Given the description of an element on the screen output the (x, y) to click on. 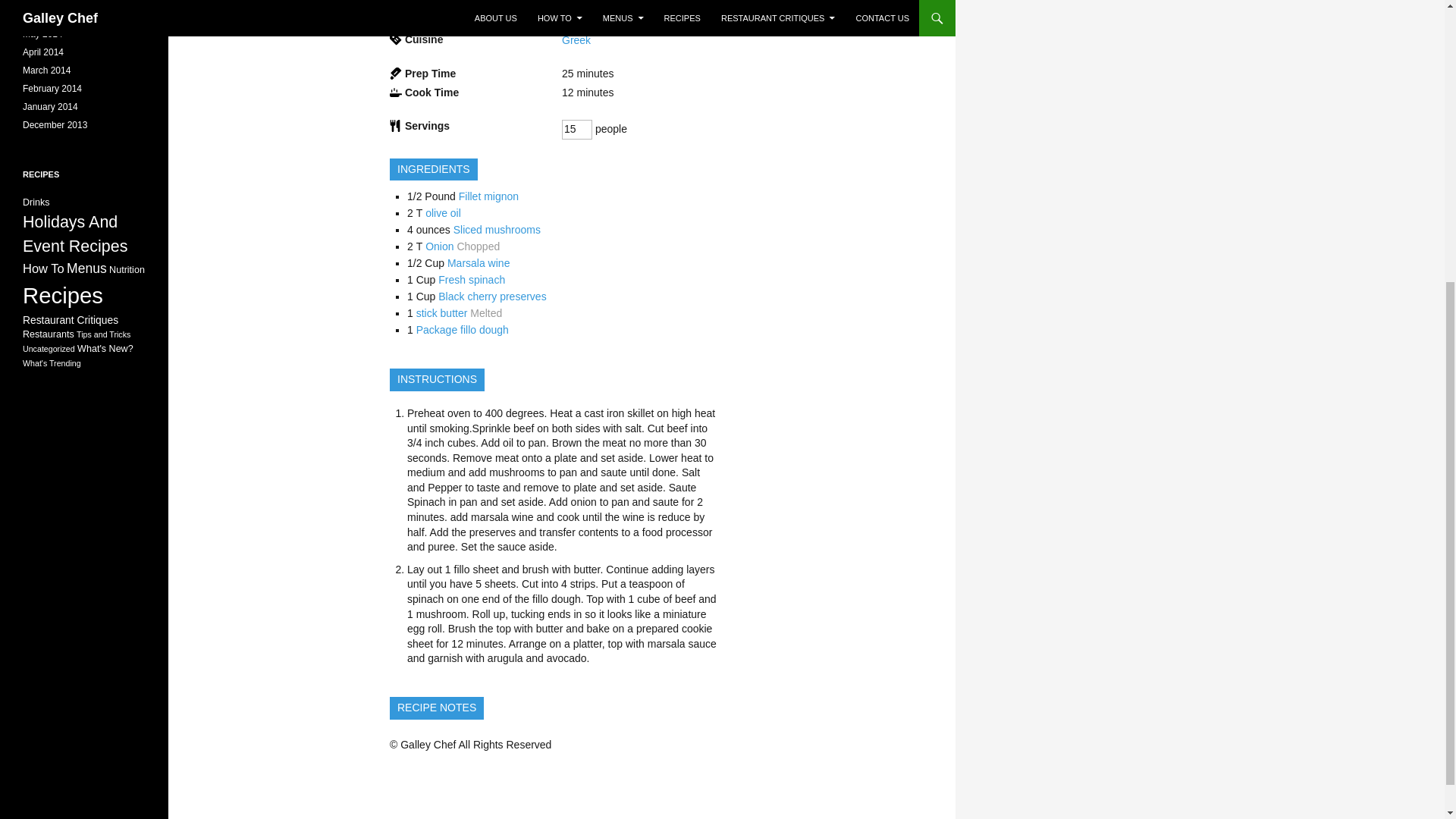
15 (577, 129)
stick butter (441, 313)
Black cherry preserves (492, 296)
olive oil (443, 213)
Fillet mignon (488, 196)
Onion (438, 246)
Package fillo dough (462, 329)
Marsala wine (477, 263)
Greek (576, 39)
Fresh spinach (471, 279)
